Given the description of an element on the screen output the (x, y) to click on. 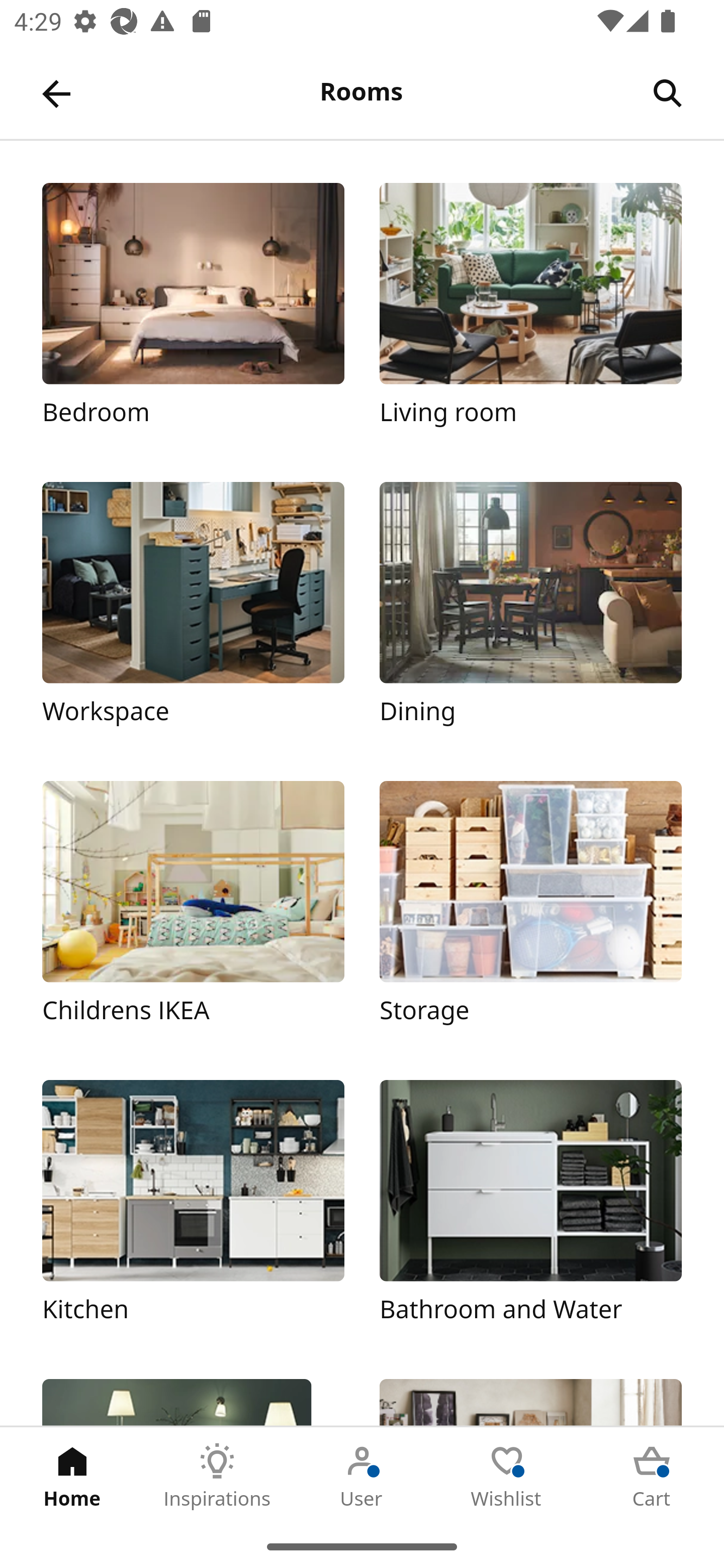
Bedroom (192, 314)
Living room (530, 314)
Workspace (192, 613)
Dining (530, 613)
Childrens IKEA (192, 912)
Storage (530, 912)
Kitchen (192, 1211)
Bathroom and Water (530, 1211)
Home
Tab 1 of 5 (72, 1476)
Inspirations
Tab 2 of 5 (216, 1476)
User
Tab 3 of 5 (361, 1476)
Wishlist
Tab 4 of 5 (506, 1476)
Cart
Tab 5 of 5 (651, 1476)
